Given the description of an element on the screen output the (x, y) to click on. 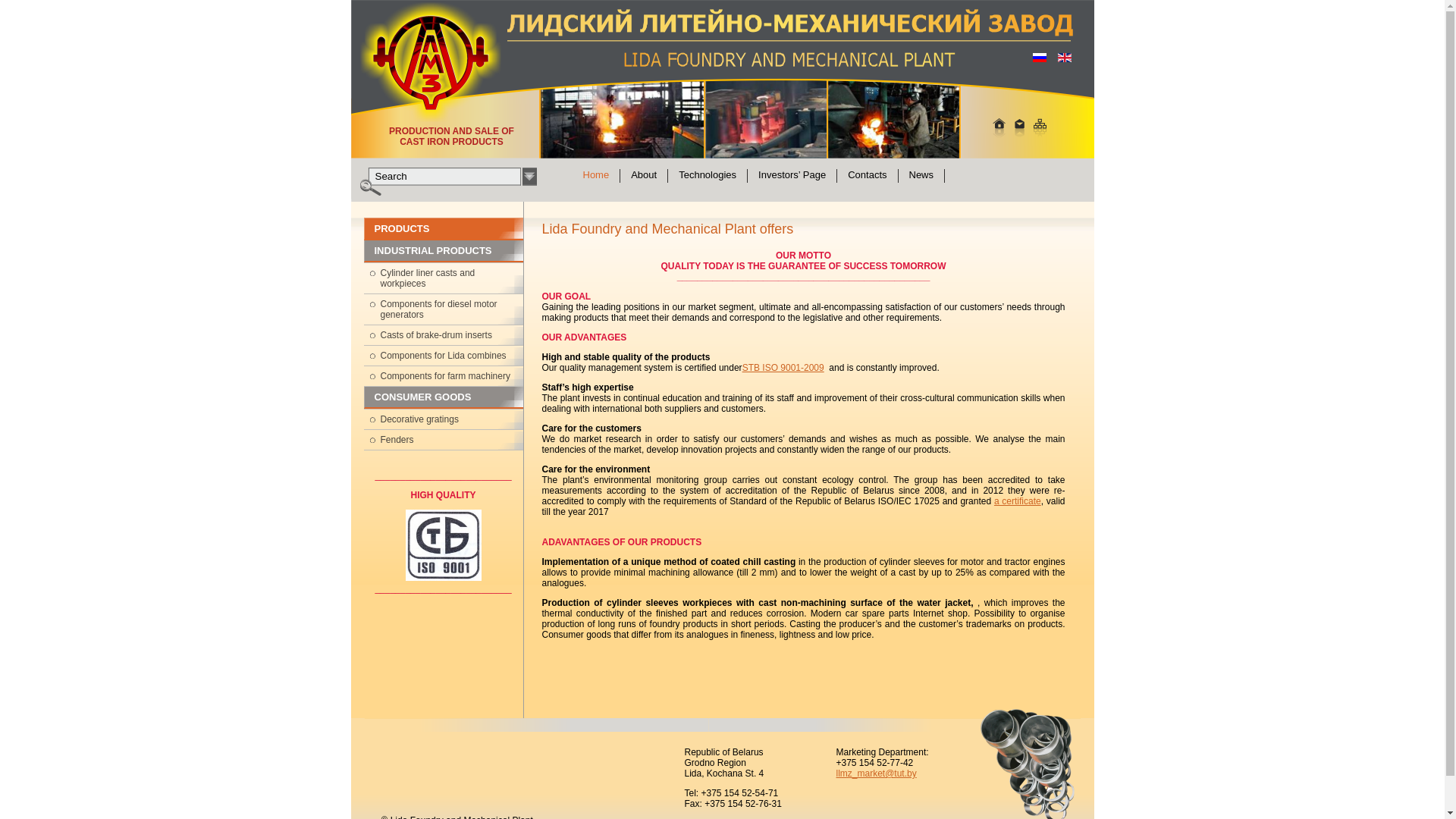
About Element type: text (644, 175)
Casts of brake-drum inserts Element type: text (443, 335)
a certificate Element type: text (1017, 500)
Cylinder liner casts and workpieces Element type: text (443, 278)
Search Element type: text (528, 176)
odern car spare parts Internet shop Element type: text (892, 613)
Components for farm machinery Element type: text (443, 375)
llmz_market@tut.by Element type: text (875, 773)
Home Element type: text (595, 175)
English (UK) Element type: hover (1064, 57)
Contacts Element type: text (867, 175)
Decorative gratings Element type: text (443, 419)
Fenders Element type: text (443, 439)
Components for diesel motor generators Element type: text (443, 309)
Components for Lida combines Element type: text (443, 355)
News Element type: text (920, 175)
Technologies Element type: text (707, 175)
STB ISO 9001-2009 Element type: text (783, 367)
